Given the description of an element on the screen output the (x, y) to click on. 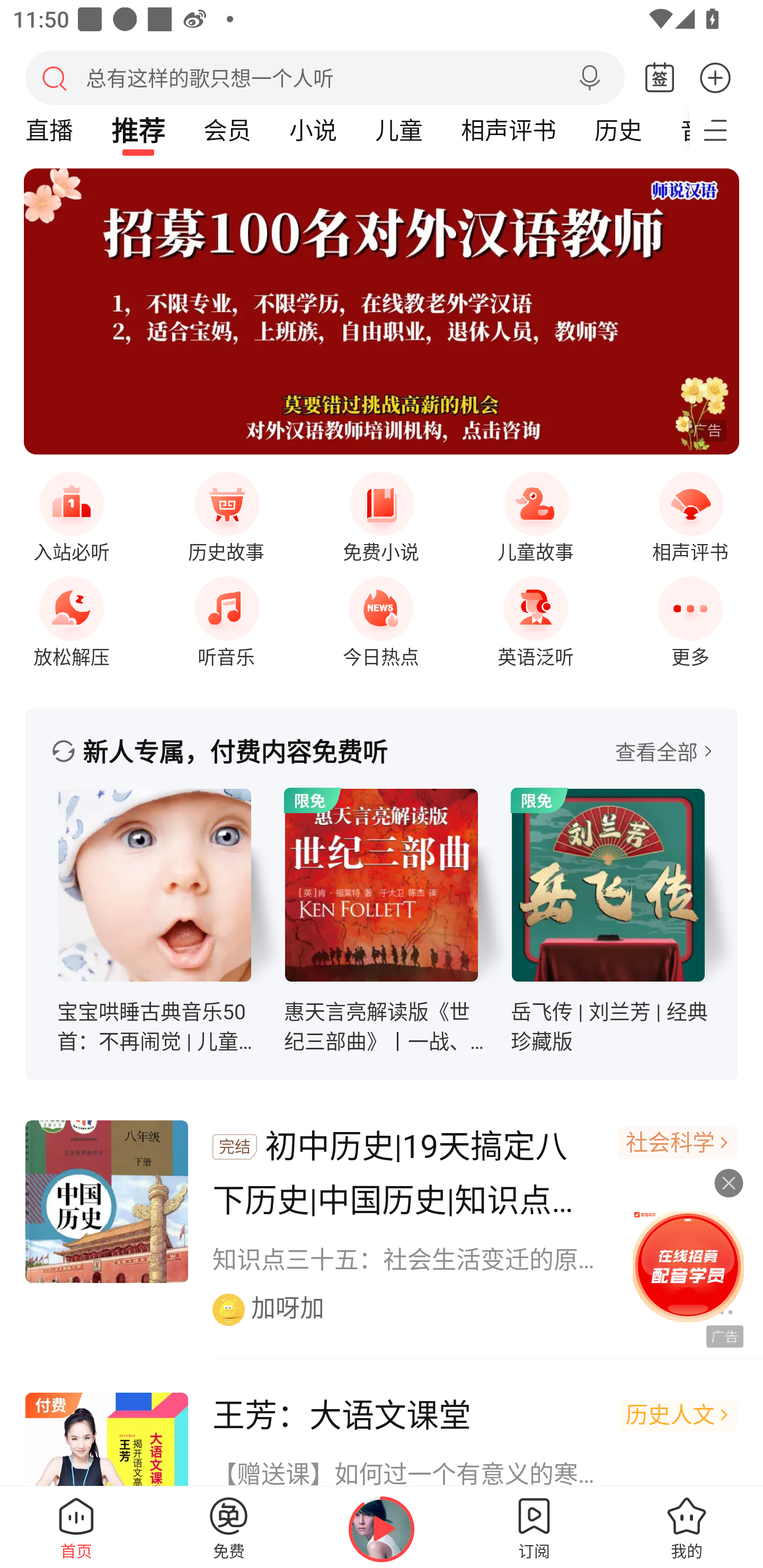
搜索 总有这样的歌只想一个人听 语音搜索 (324, 77)
更多 (714, 77)
签到 (659, 78)
语音搜索 (589, 78)
直播 (49, 130)
推荐 (138, 130)
会员 (227, 130)
小说 (313, 130)
儿童 (398, 130)
相声评书 (508, 130)
历史 (618, 130)
更多频道 (726, 130)
对外汉语老师训练营，挑战汉语兼职 (381, 310)
入站必听 (71, 514)
历史故事 (226, 514)
免费小说 (380, 514)
儿童故事 (535, 514)
相声评书 (689, 514)
放松解压 (71, 616)
听音乐 (226, 616)
今日热点 (380, 616)
英语泛听 (535, 616)
更多 (689, 616)
查看全部 (662, 750)
专辑图标 (154, 885)
专辑图标 (381, 885)
专辑图标 (607, 885)
关闭 关闭广告 广告 (685, 1263)
关闭广告 (718, 1182)
王芳：大语文课堂 历史人文    【赠送课】如何过一个有意义的寒假？ (381, 1426)
首页 (76, 1526)
免费 (228, 1526)
订阅 (533, 1526)
我的 (686, 1526)
继续播放Alpha-橘子海OrangeOcean (381, 1529)
